Given the description of an element on the screen output the (x, y) to click on. 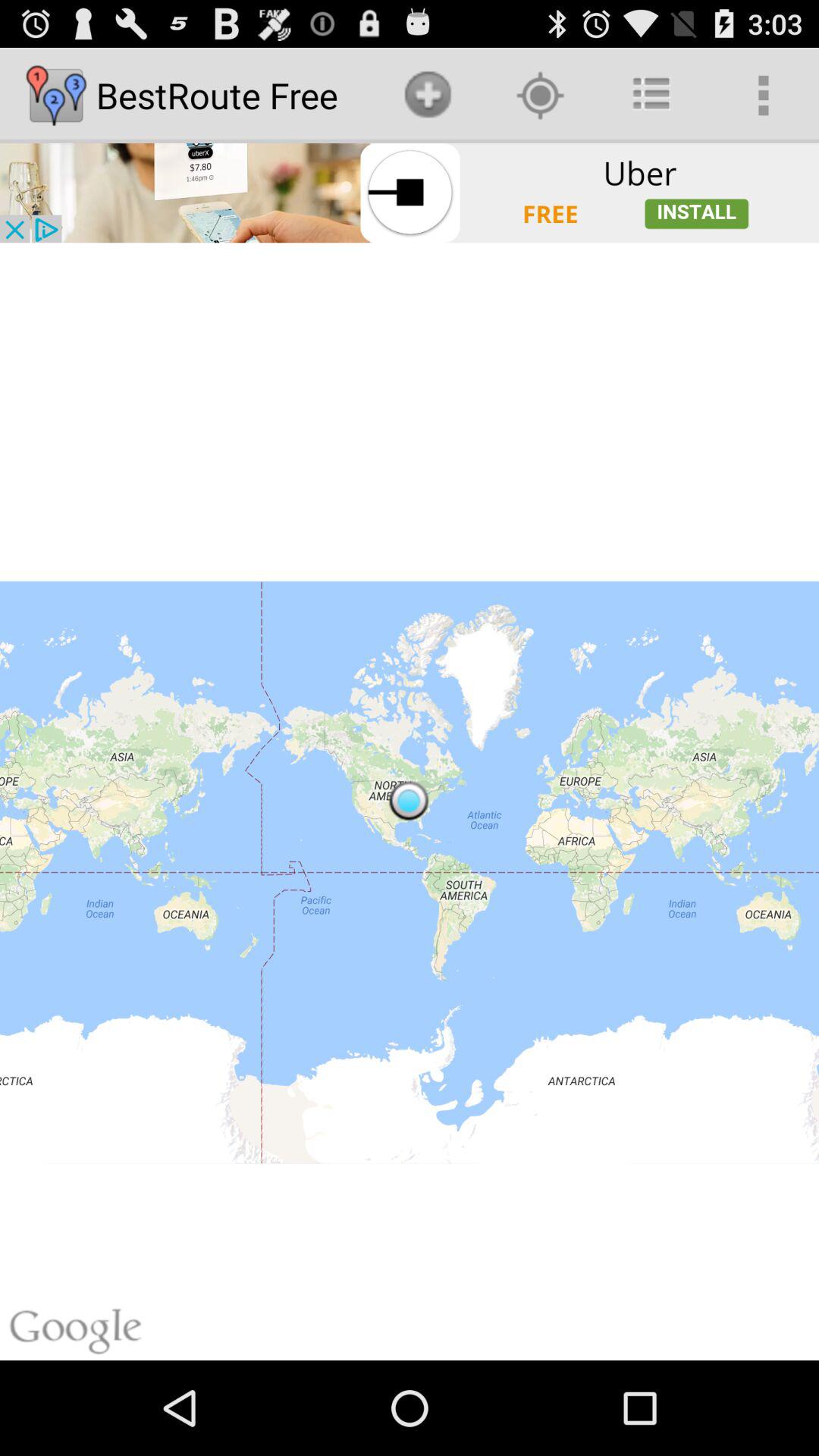
click advertisement (409, 192)
